Given the description of an element on the screen output the (x, y) to click on. 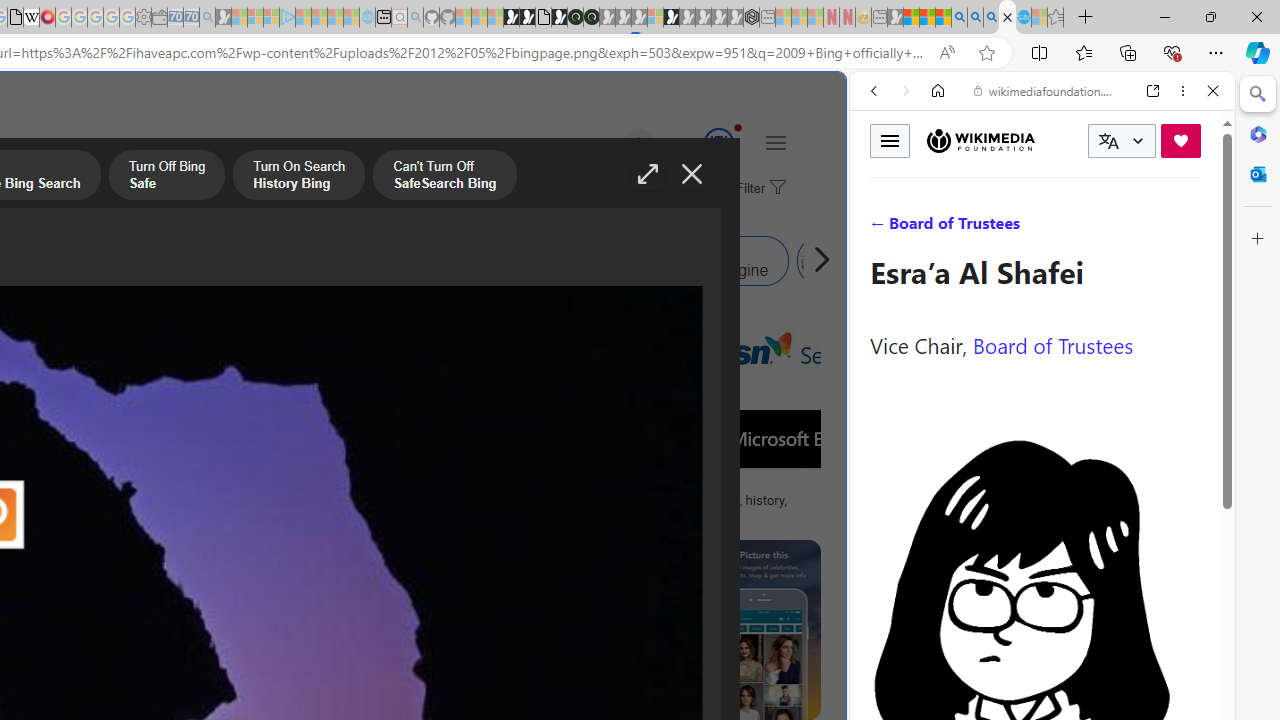
Tabs you've opened (276, 265)
Class: item col (890, 260)
Animation (737, 127)
AutomationID: serp_medal_svg (718, 142)
Scroll right (816, 260)
Favorites - Sleeping (1055, 17)
